Given the description of an element on the screen output the (x, y) to click on. 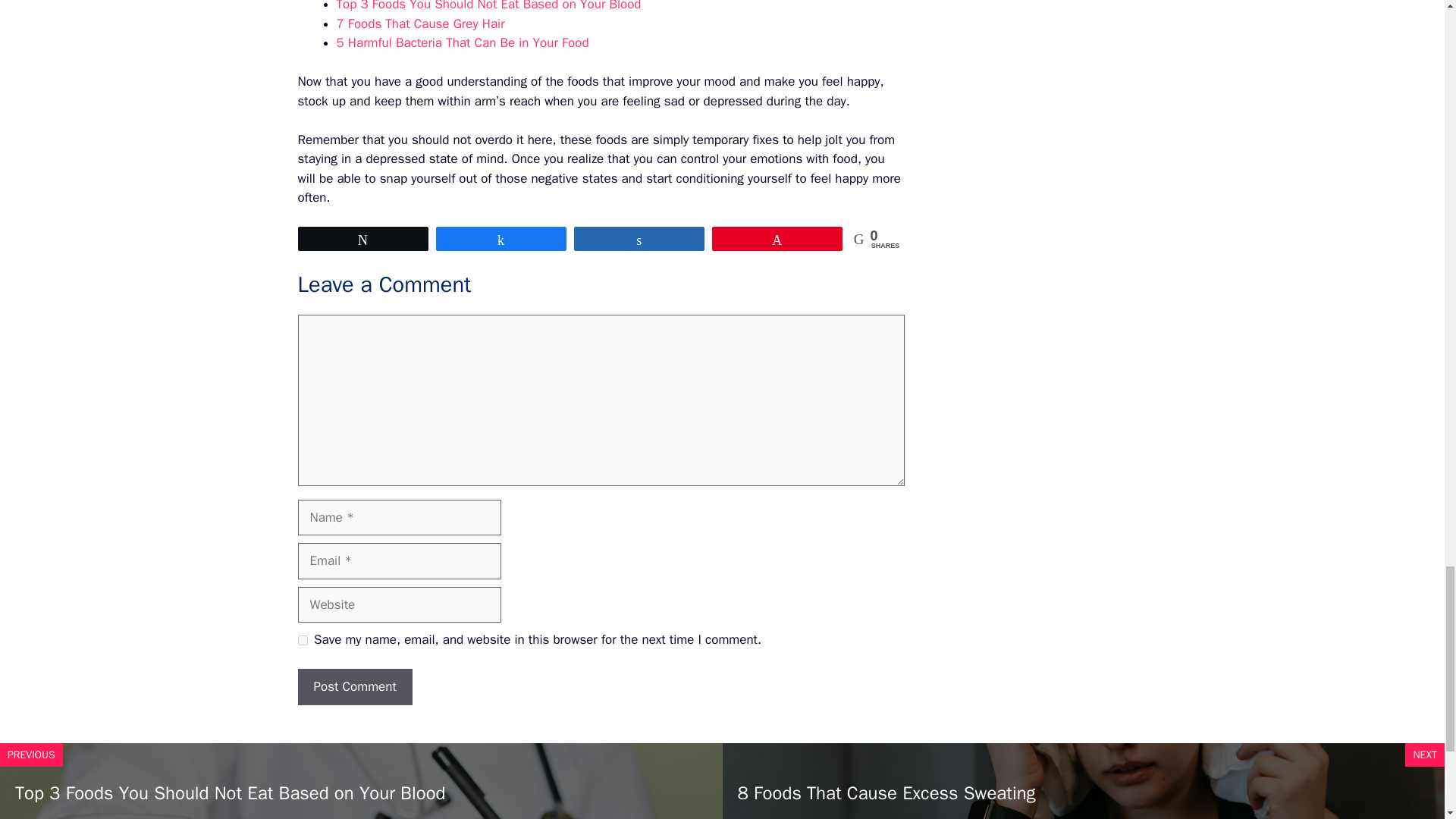
7 Foods That Cause Grey Hair (420, 23)
5 Harmful Bacteria That Can Be in Your Food (462, 42)
yes (302, 640)
Top 3 Foods You Should Not Eat Based on Your Blood (489, 6)
Post Comment (354, 687)
